Given the description of an element on the screen output the (x, y) to click on. 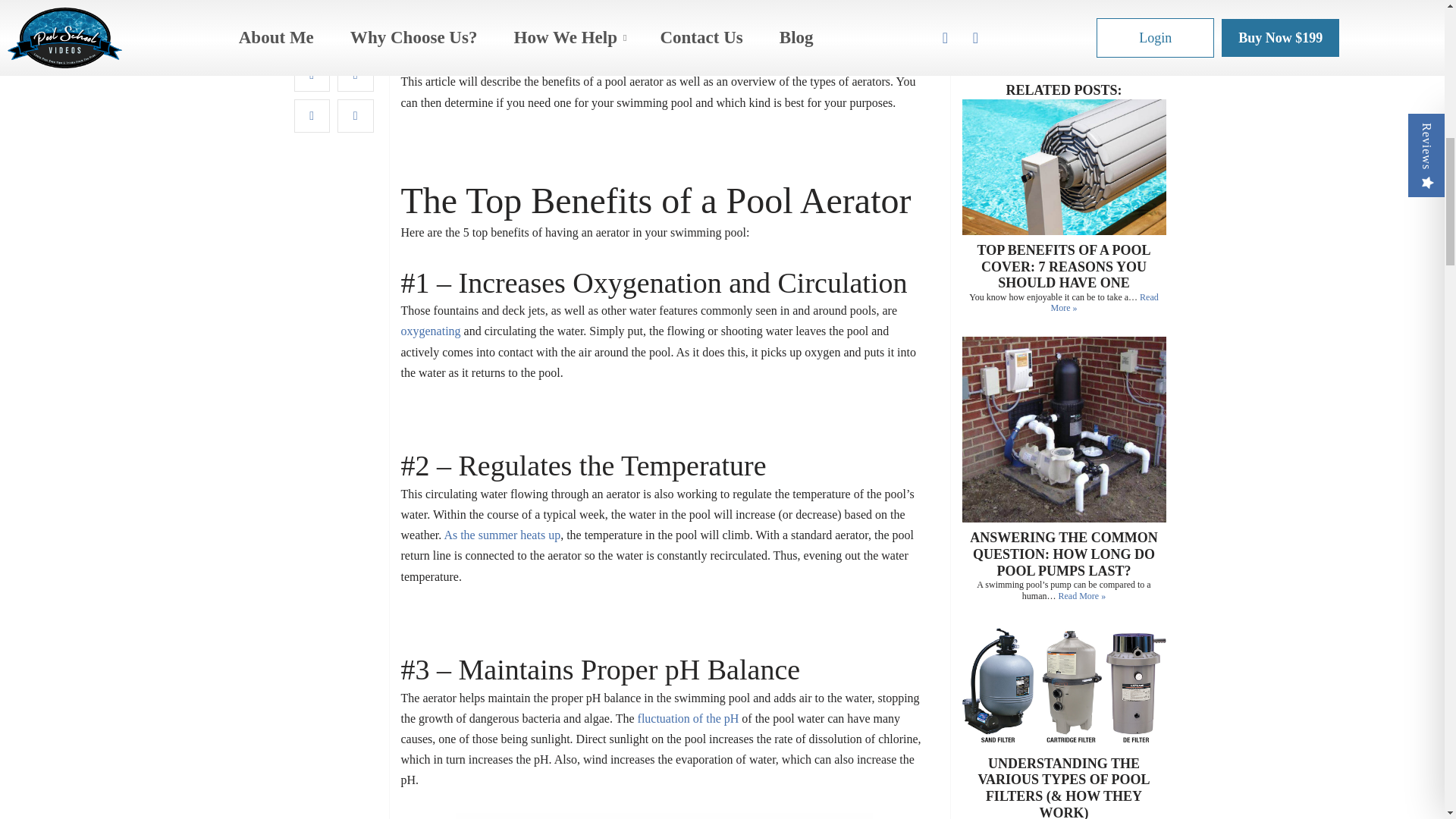
fluctuation of the pH (688, 717)
Share on linkedin-in (312, 8)
As the summer heats up (502, 534)
oxygenating (431, 330)
Share on pinterest-p (355, 8)
